Given the description of an element on the screen output the (x, y) to click on. 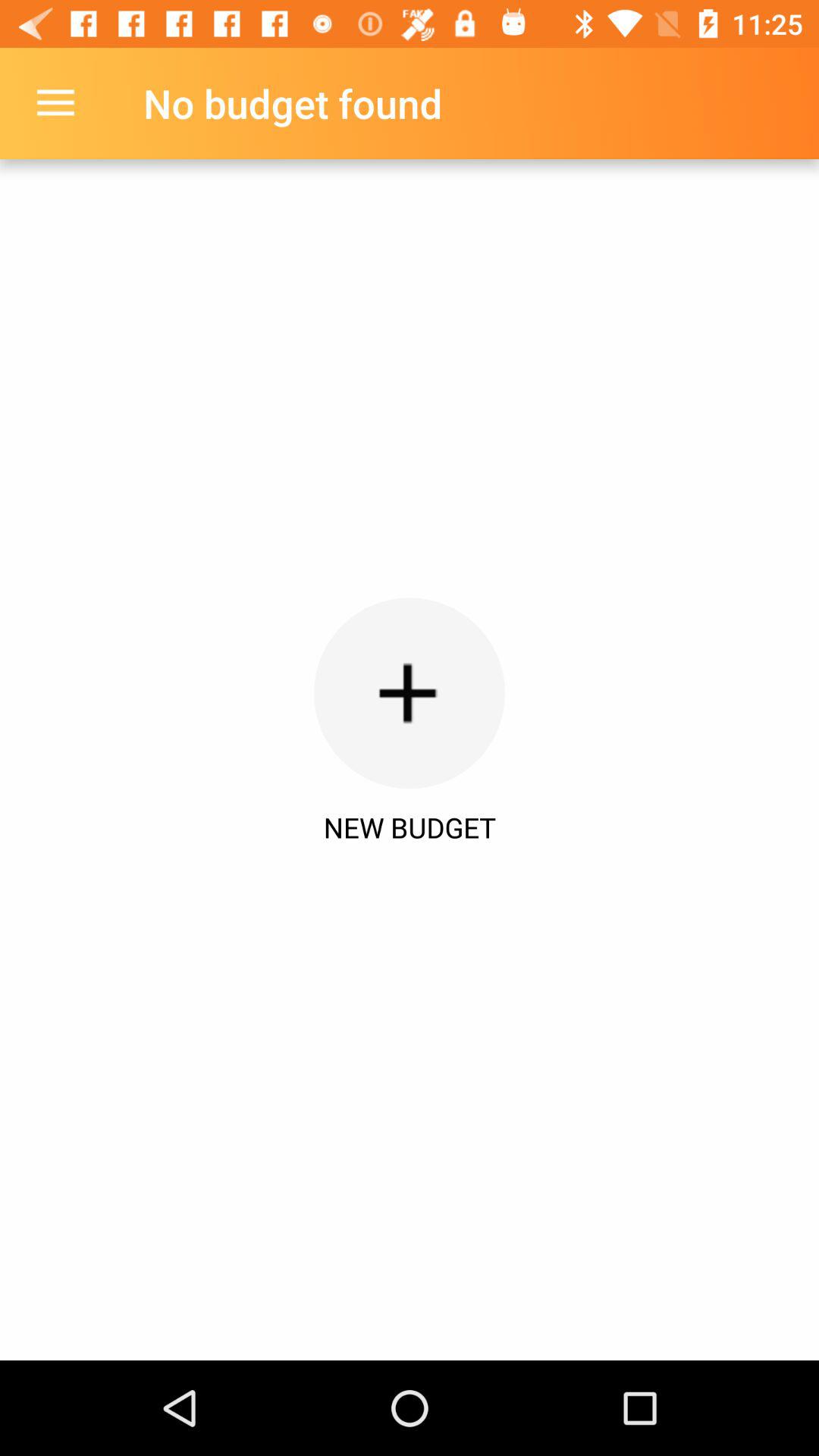
turn off the icon above new budget icon (409, 692)
